Given the description of an element on the screen output the (x, y) to click on. 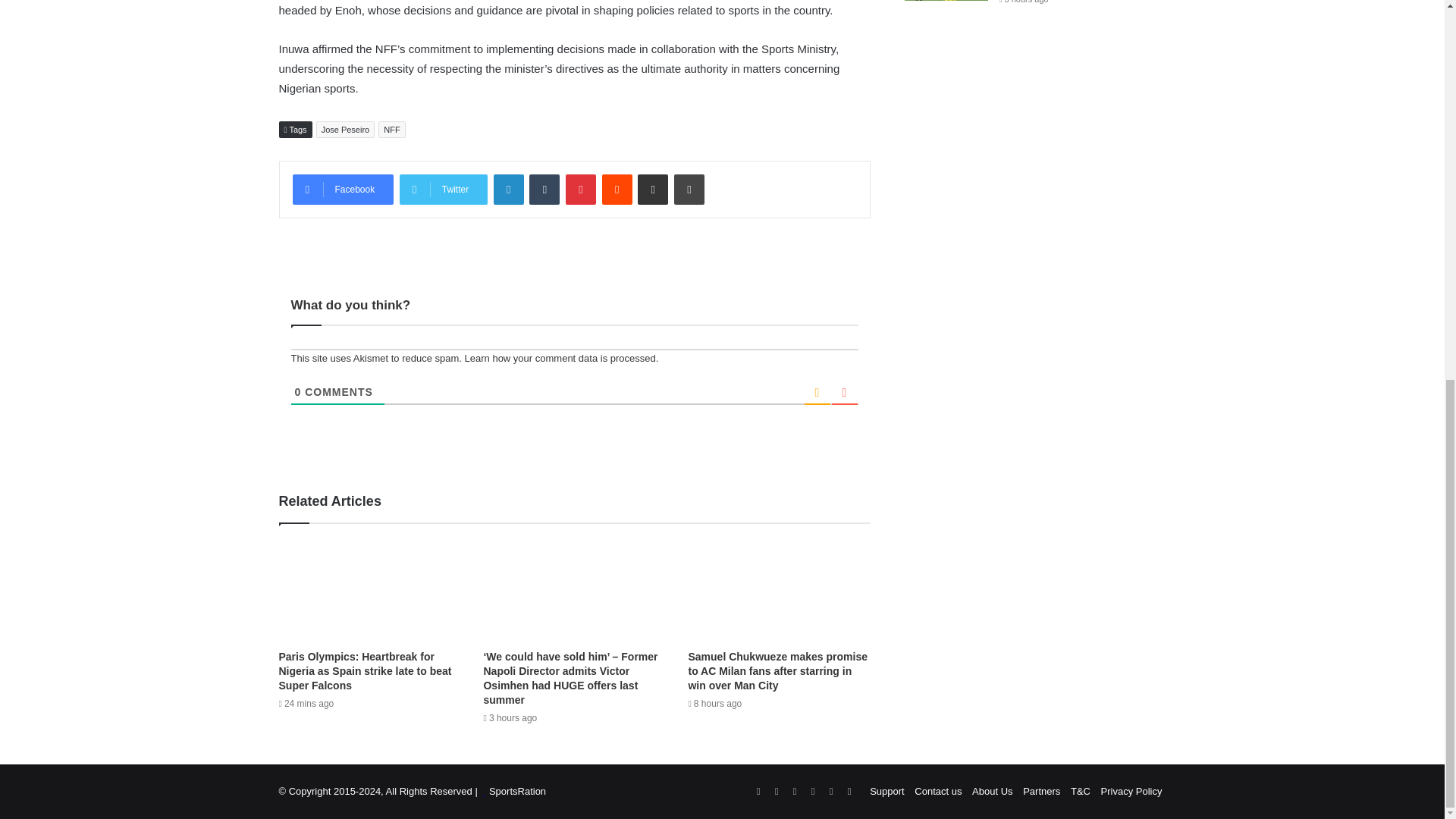
Pinterest (580, 189)
Share via Email (652, 189)
Reddit (616, 189)
Twitter (442, 189)
Print (689, 189)
LinkedIn (508, 189)
Facebook (343, 189)
Tumblr (544, 189)
